Given the description of an element on the screen output the (x, y) to click on. 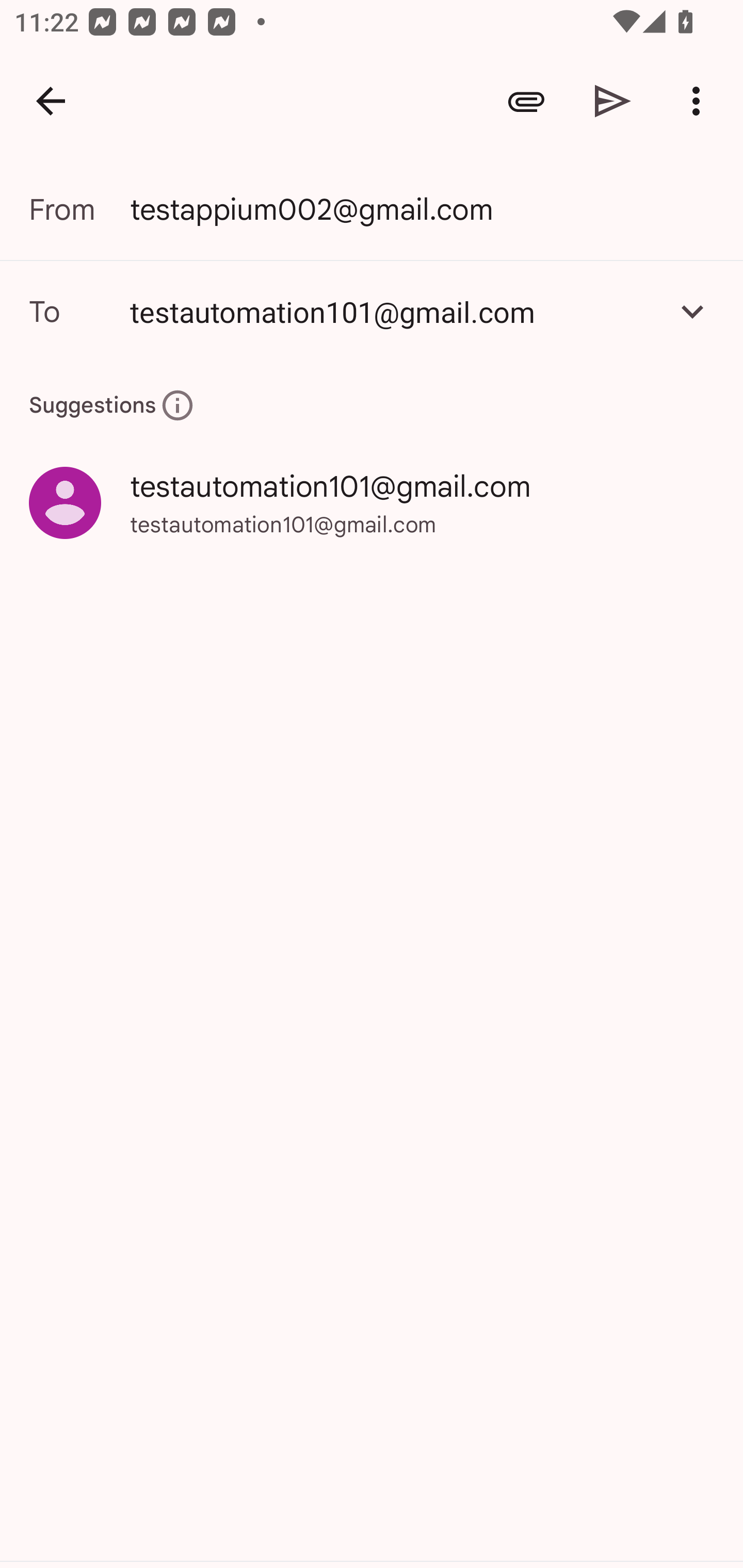
Navigate up (50, 101)
Attach file (525, 101)
Send (612, 101)
More options (699, 101)
From (79, 209)
Add Cc/Bcc (692, 311)
testautomation101@gmail.com (371, 311)
testautomation101@gmail.com (393, 311)
How suggestions work (177, 405)
